Given the description of an element on the screen output the (x, y) to click on. 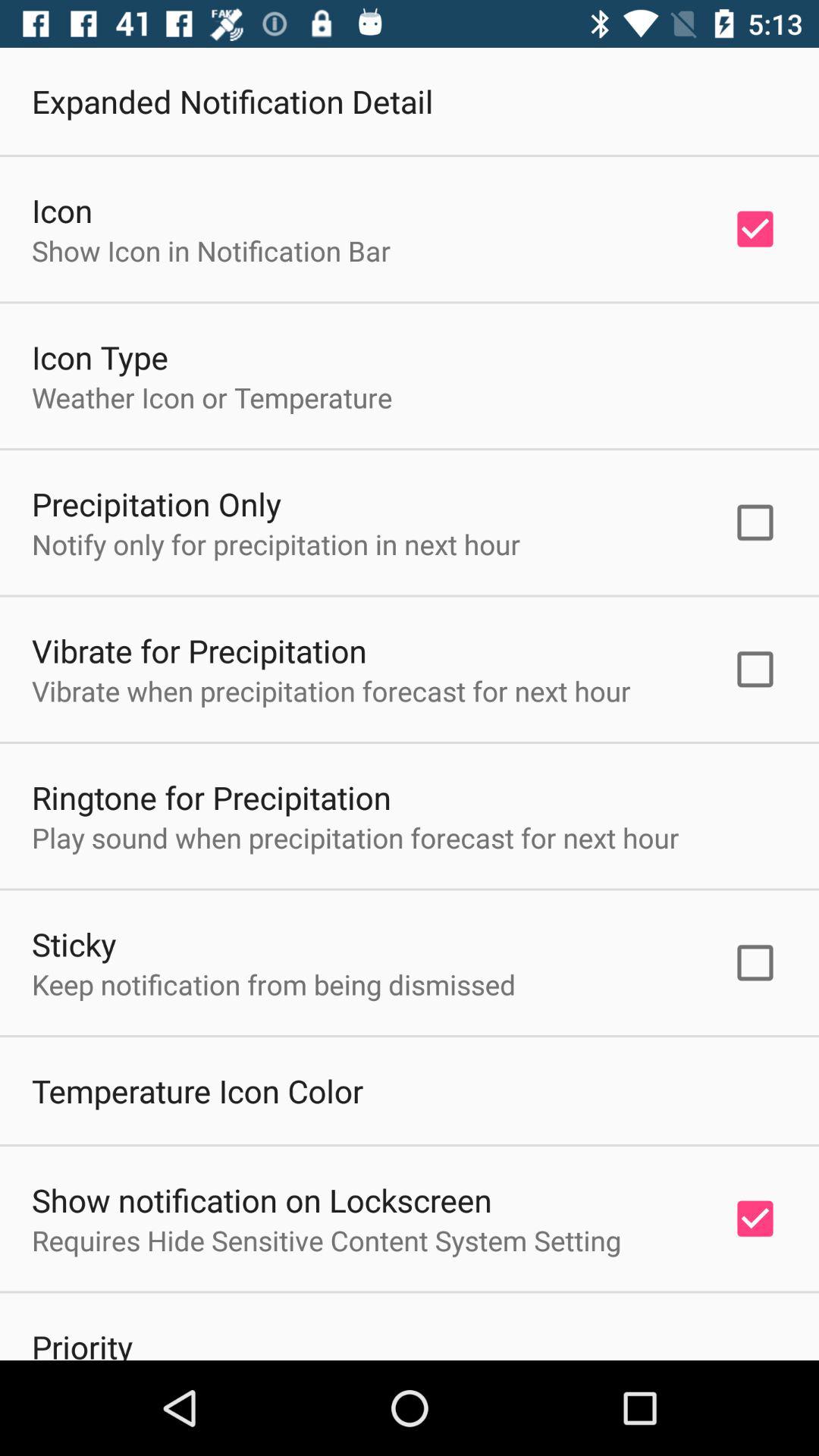
choose item below the requires hide sensitive (82, 1342)
